Given the description of an element on the screen output the (x, y) to click on. 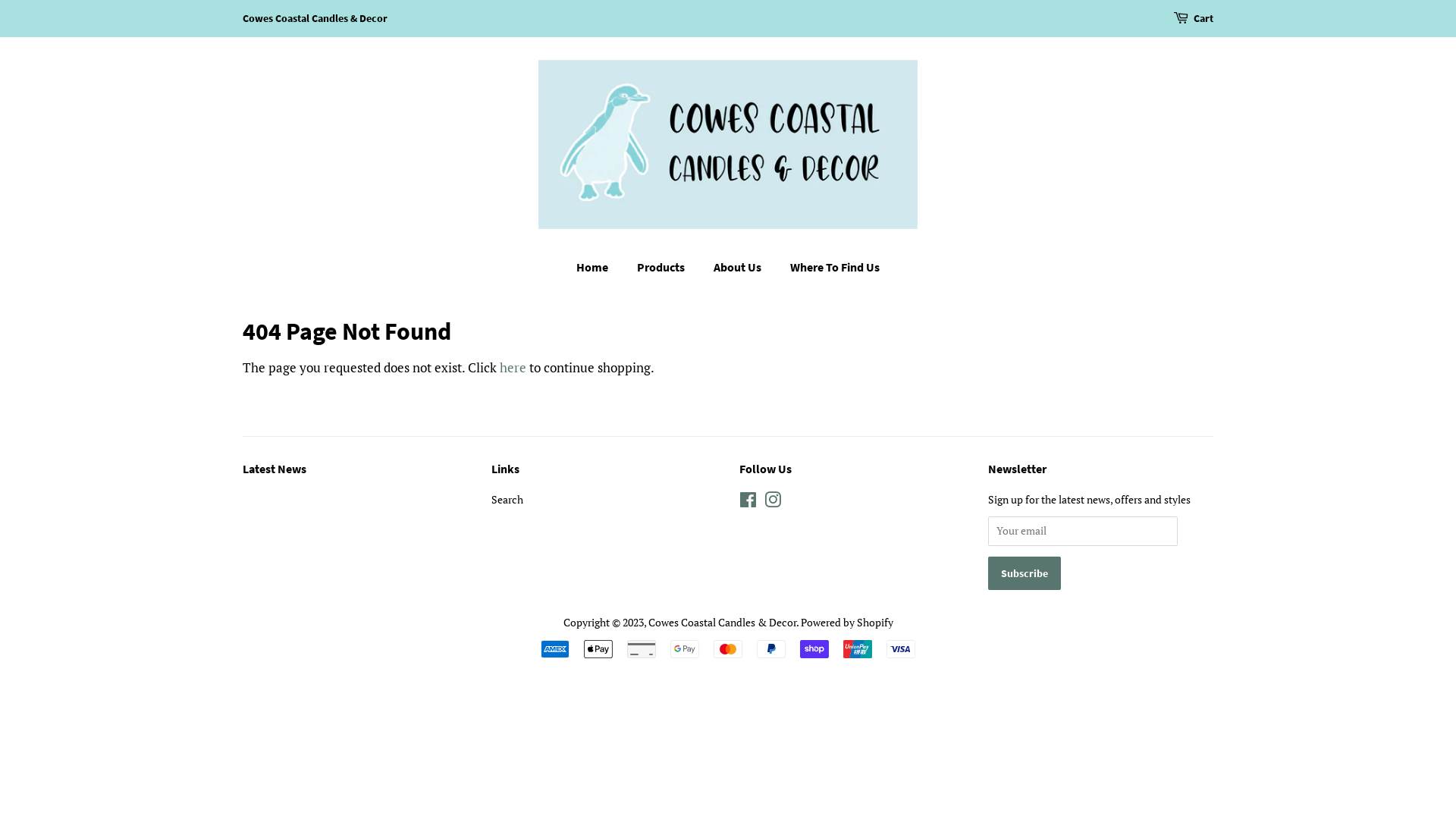
Subscribe Element type: text (1023, 572)
Products Element type: text (662, 266)
Facebook Element type: text (747, 502)
Home Element type: text (599, 266)
About Us Element type: text (739, 266)
Powered by Shopify Element type: text (846, 622)
Search Element type: text (507, 499)
Instagram Element type: text (772, 502)
here Element type: text (512, 367)
Cowes Coastal Candles & Decor Element type: text (721, 622)
Cart Element type: text (1203, 18)
Latest News Element type: text (274, 468)
Where To Find Us Element type: text (828, 266)
